Given the description of an element on the screen output the (x, y) to click on. 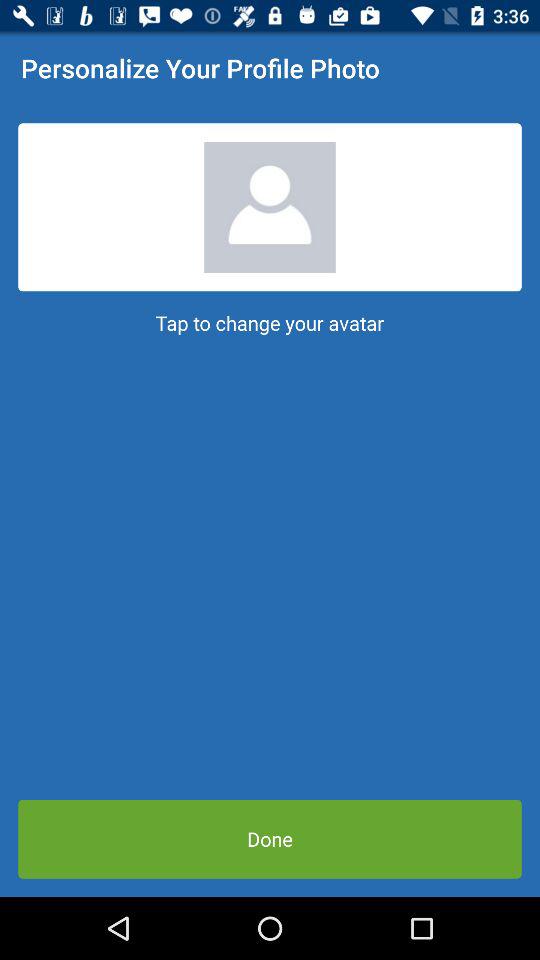
change profile photo button (269, 207)
